Given the description of an element on the screen output the (x, y) to click on. 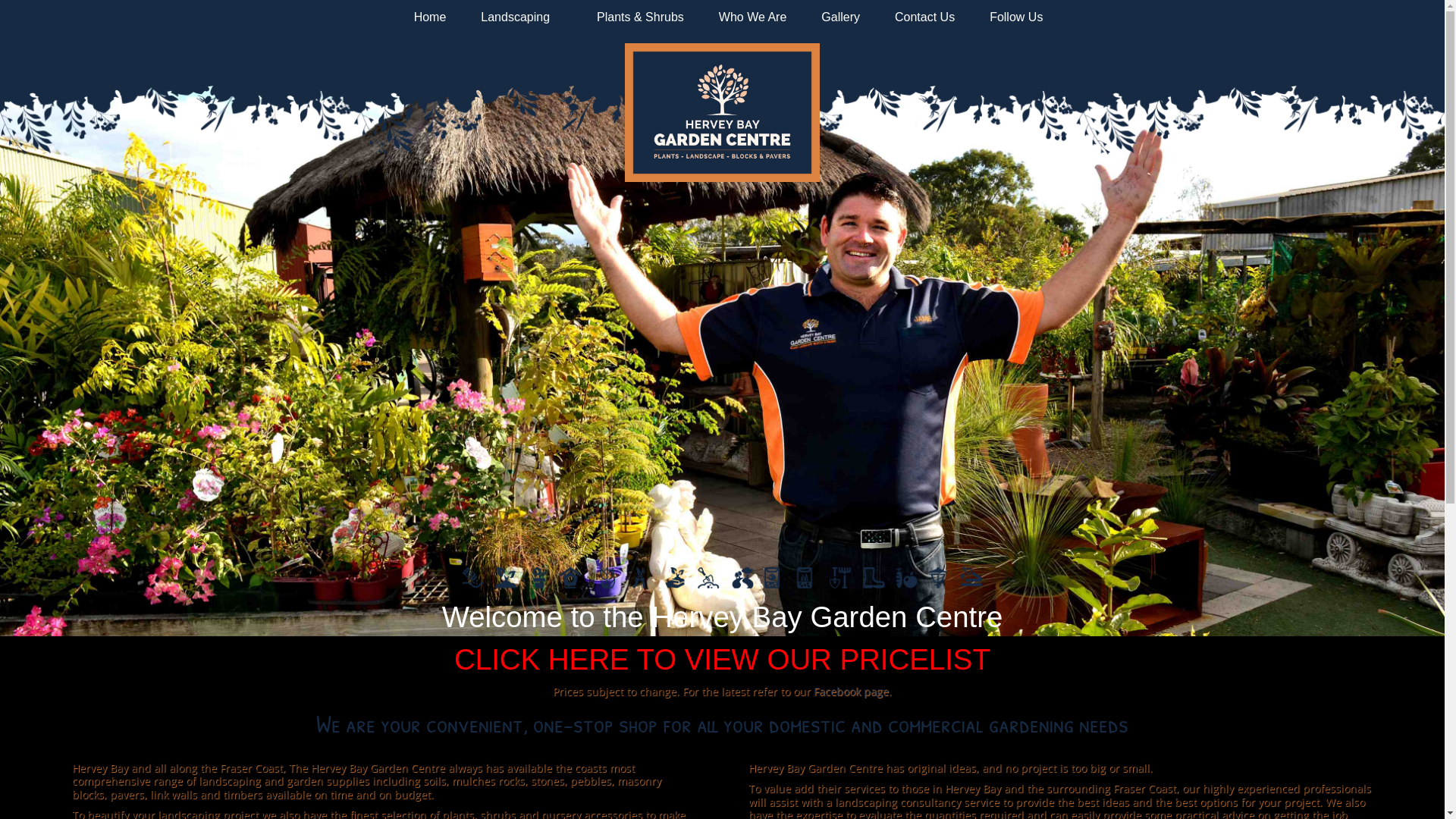
Gallery Element type: text (834, 17)
Facebook page Element type: text (850, 691)
Follow Us Element type: text (1010, 17)
Home Element type: text (424, 17)
CLICK HERE TO VIEW OUR PRICELIST Element type: text (722, 659)
Who We Are Element type: text (746, 17)
Contact Us Element type: text (918, 17)
Plants & Shrubs Element type: text (634, 17)
Landscaping Element type: text (515, 17)
